Given the description of an element on the screen output the (x, y) to click on. 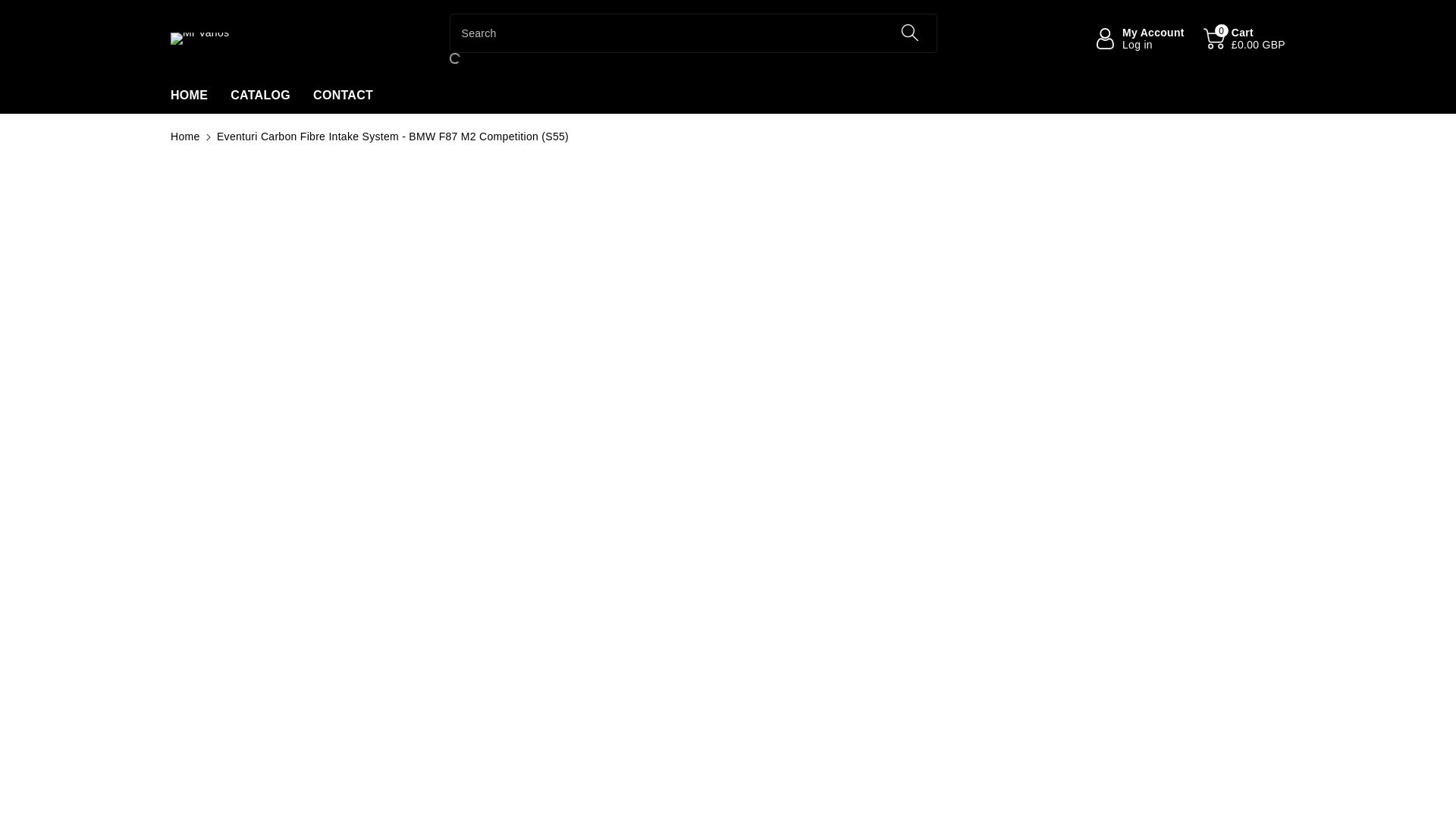
Home (185, 136)
Home (185, 136)
Skip To Content (1139, 38)
HOME (8, 8)
CATALOG (189, 95)
CONTACT (259, 95)
